Given the description of an element on the screen output the (x, y) to click on. 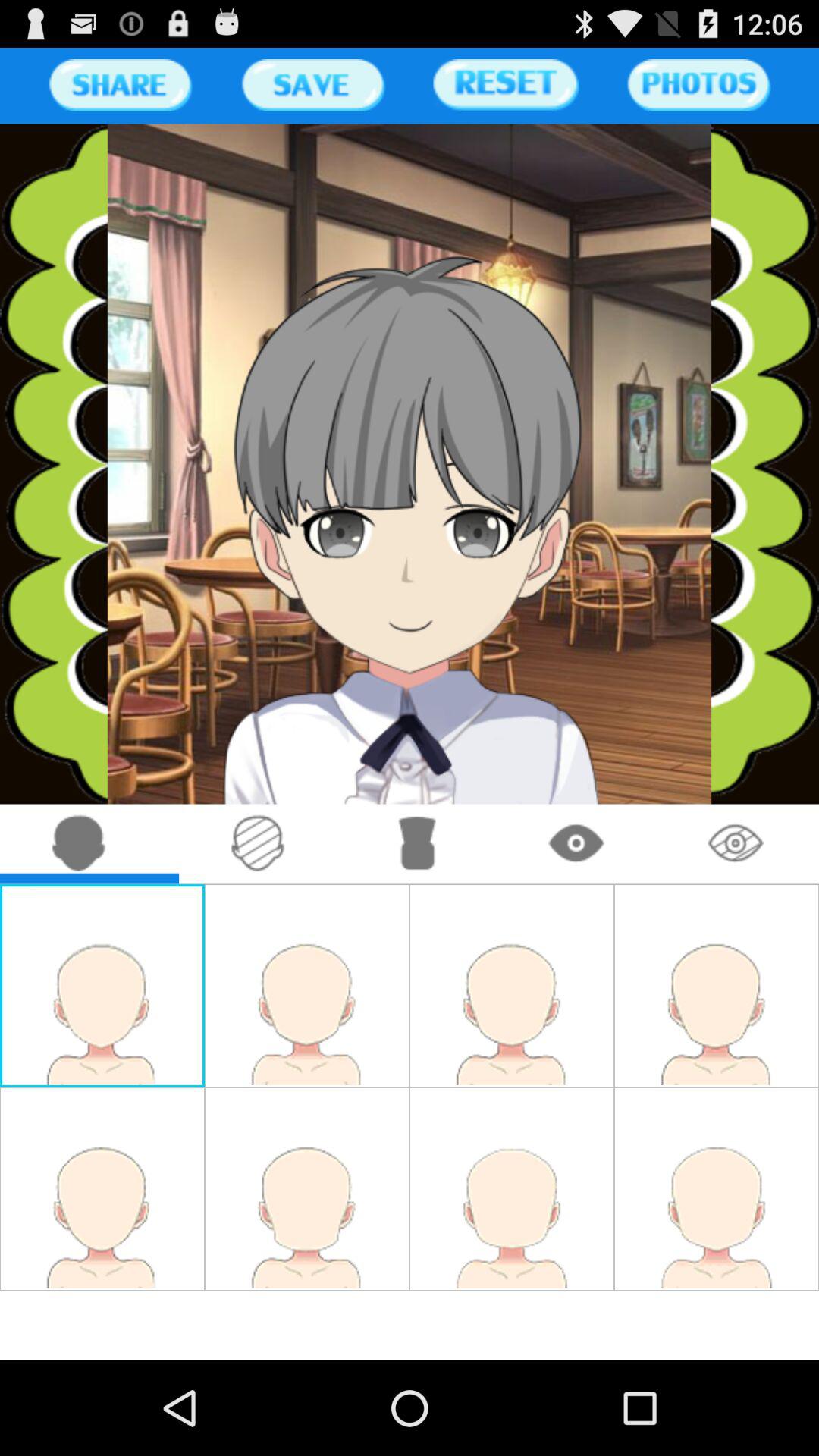
using the file (312, 85)
